Given the description of an element on the screen output the (x, y) to click on. 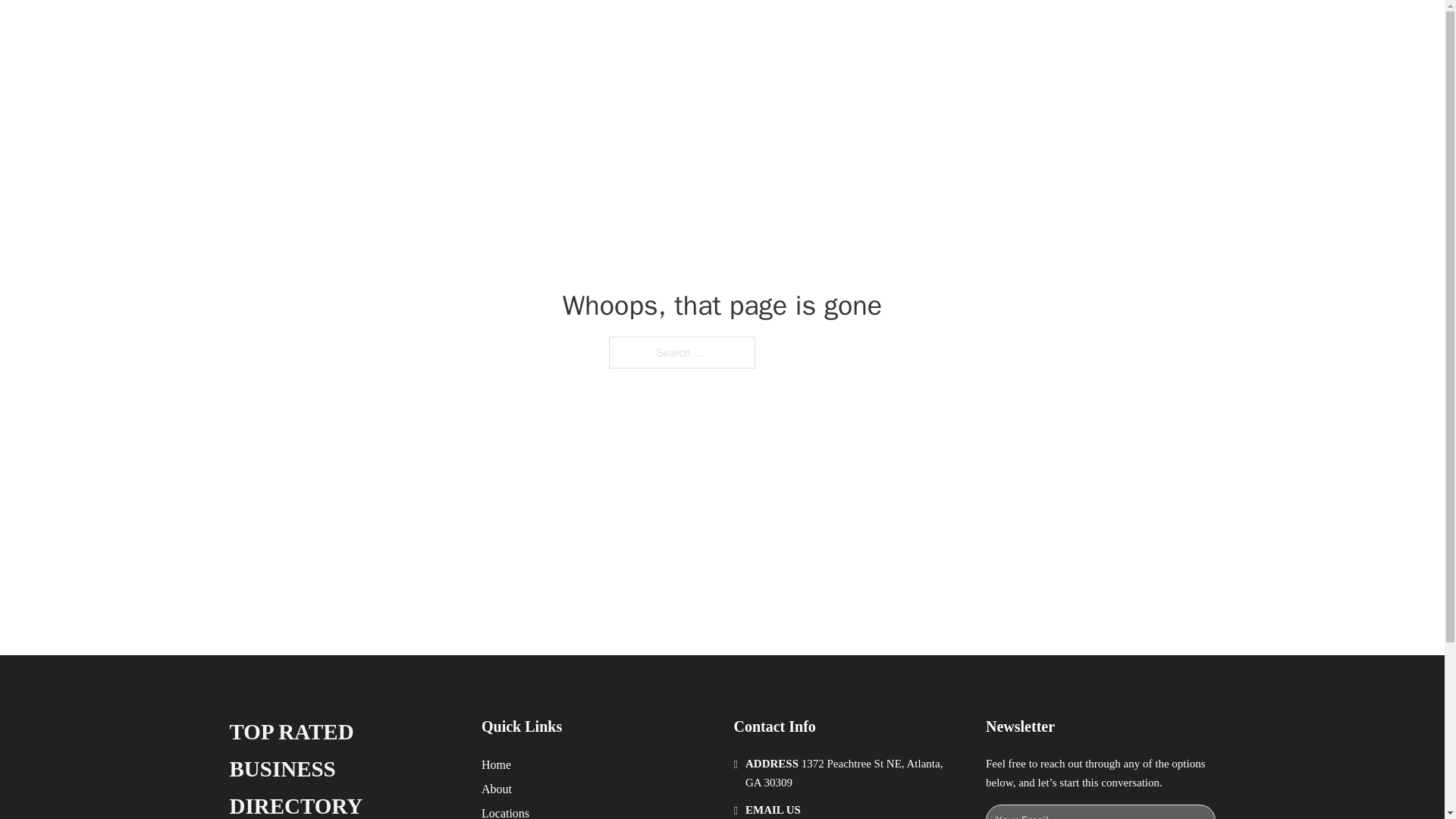
HOME (919, 29)
Home (496, 764)
About (496, 788)
Locations (505, 811)
TOP RATED BUSINESS DIRECTORY (343, 766)
LOCATIONS (990, 29)
TOP RATED BUSINESS DIRECTORY (475, 28)
